Given the description of an element on the screen output the (x, y) to click on. 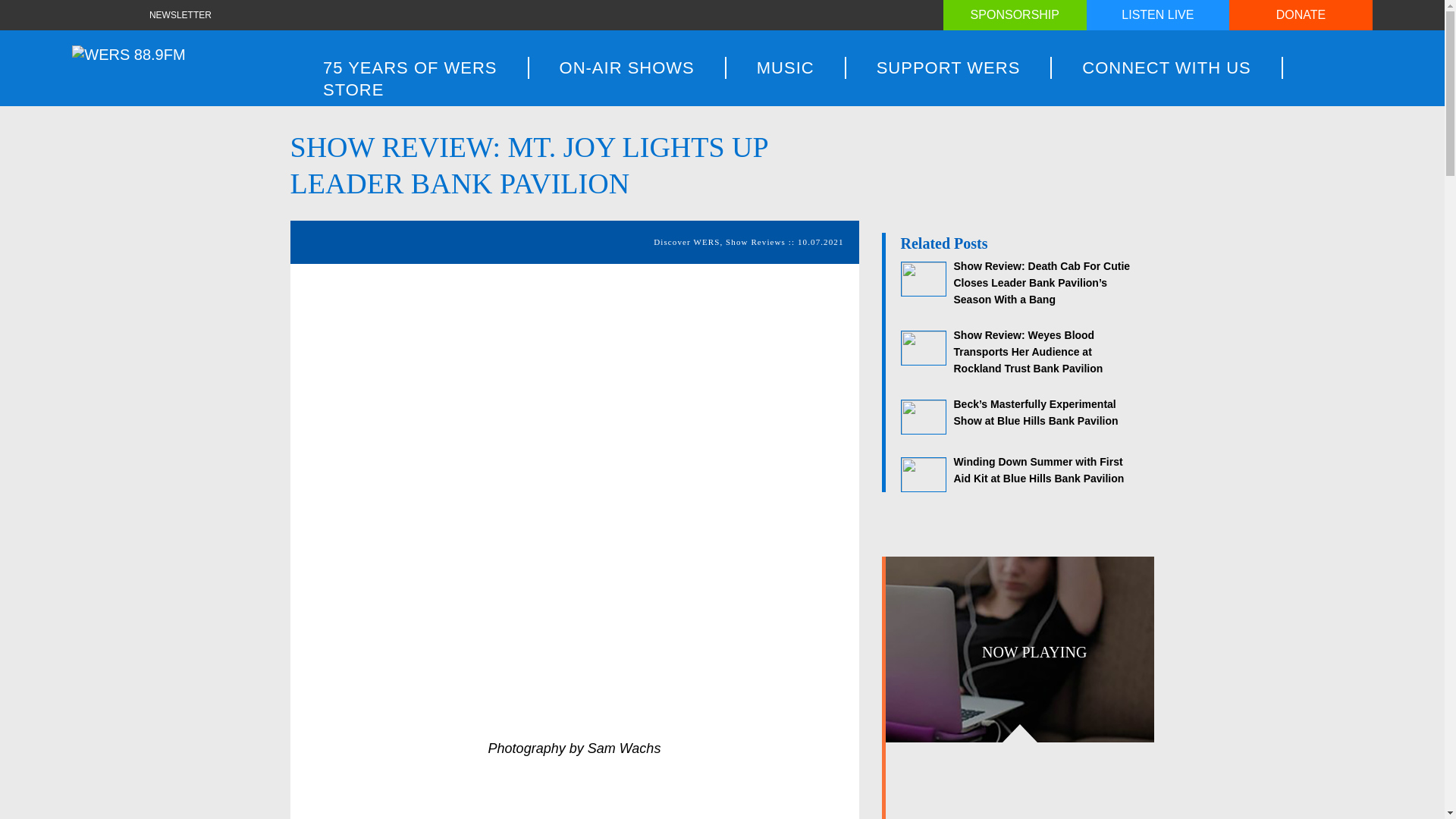
ON-AIR SHOWS (627, 67)
NEWSLETTER (184, 14)
DONATE (1300, 15)
SPONSORSHIP (1014, 15)
75 YEARS OF WERS (410, 67)
MUSIC (785, 67)
Newsletter (184, 14)
SUPPORT WERS (948, 67)
